Given the description of an element on the screen output the (x, y) to click on. 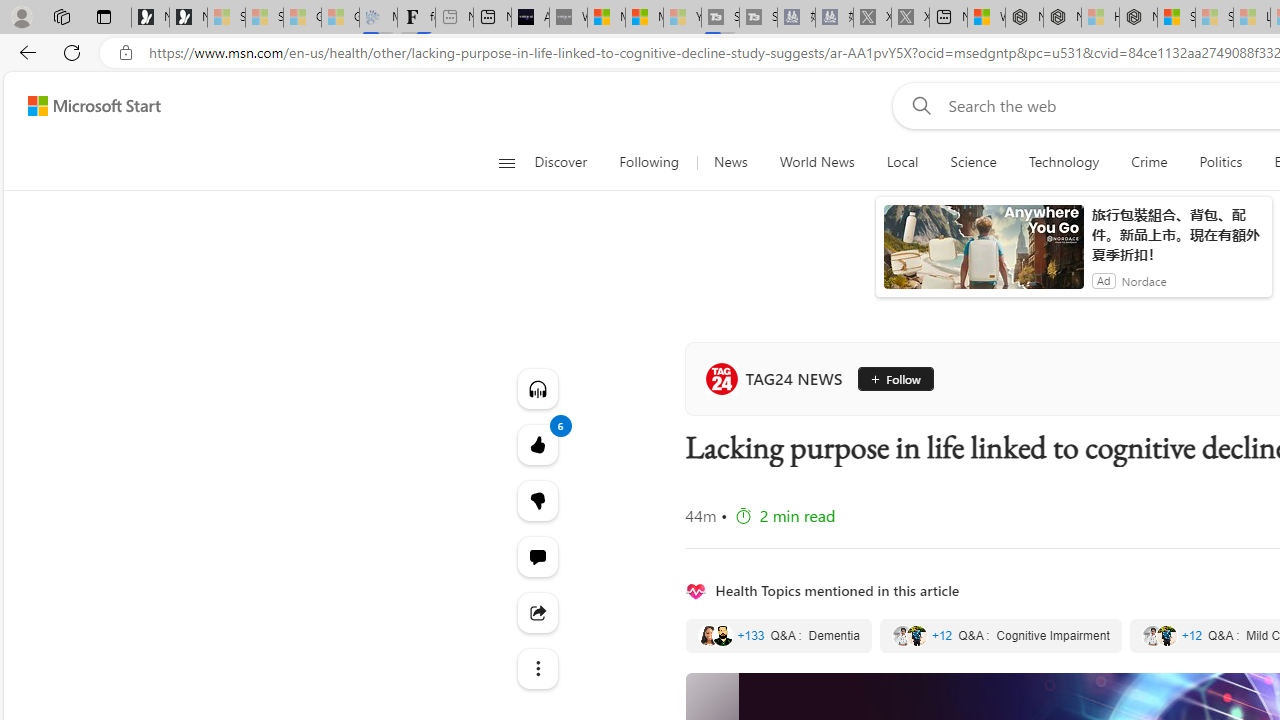
Technology (1063, 162)
Science (973, 162)
More like this6Fewer like thisStart the conversation (537, 500)
Crime (1149, 162)
Crime (1149, 162)
Science (973, 162)
Listen to this article (537, 388)
Listen to this article (537, 388)
